Given the description of an element on the screen output the (x, y) to click on. 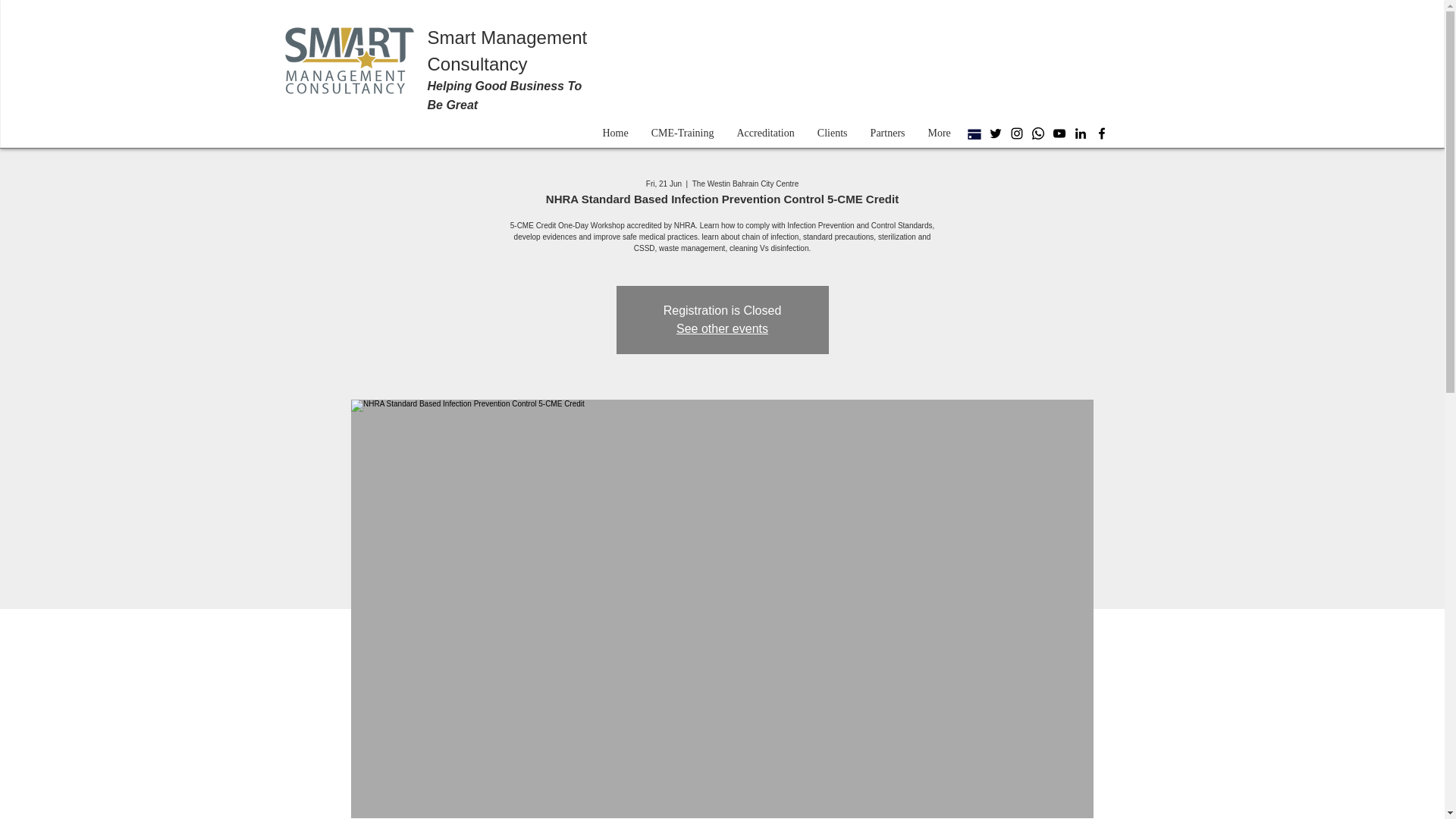
Clients (832, 133)
CME-Training (682, 133)
See other events (722, 328)
Partners (887, 133)
Accreditation (765, 133)
Home (615, 133)
